Given the description of an element on the screen output the (x, y) to click on. 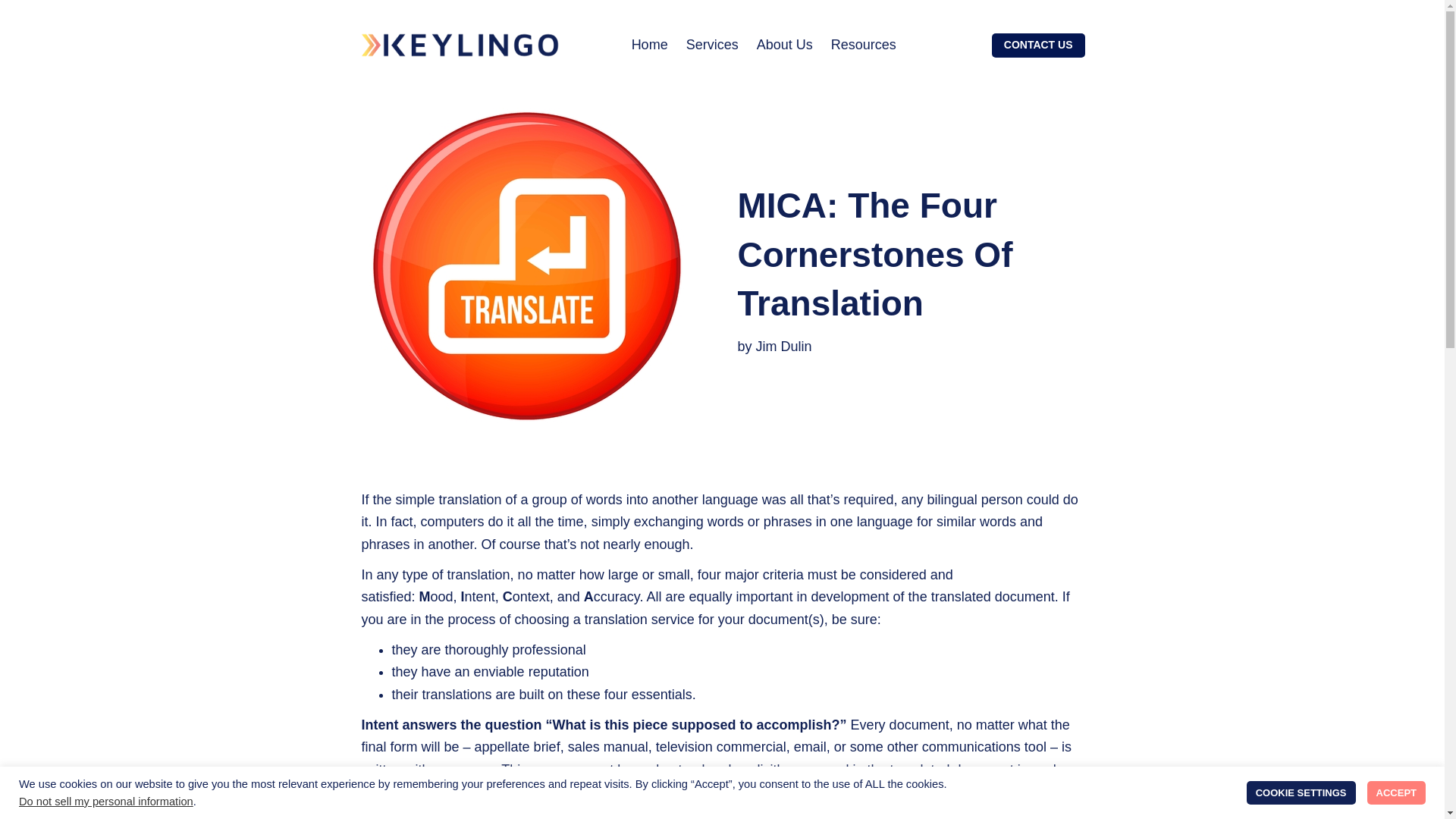
COOKIE SETTINGS (1300, 792)
ACCEPT (1396, 792)
About Us (784, 45)
Home (649, 45)
Services (711, 45)
CONTACT US (1037, 44)
Resources (863, 45)
keylingo-logo-navy-keylingo (459, 44)
Do not sell my personal information (105, 801)
